Given the description of an element on the screen output the (x, y) to click on. 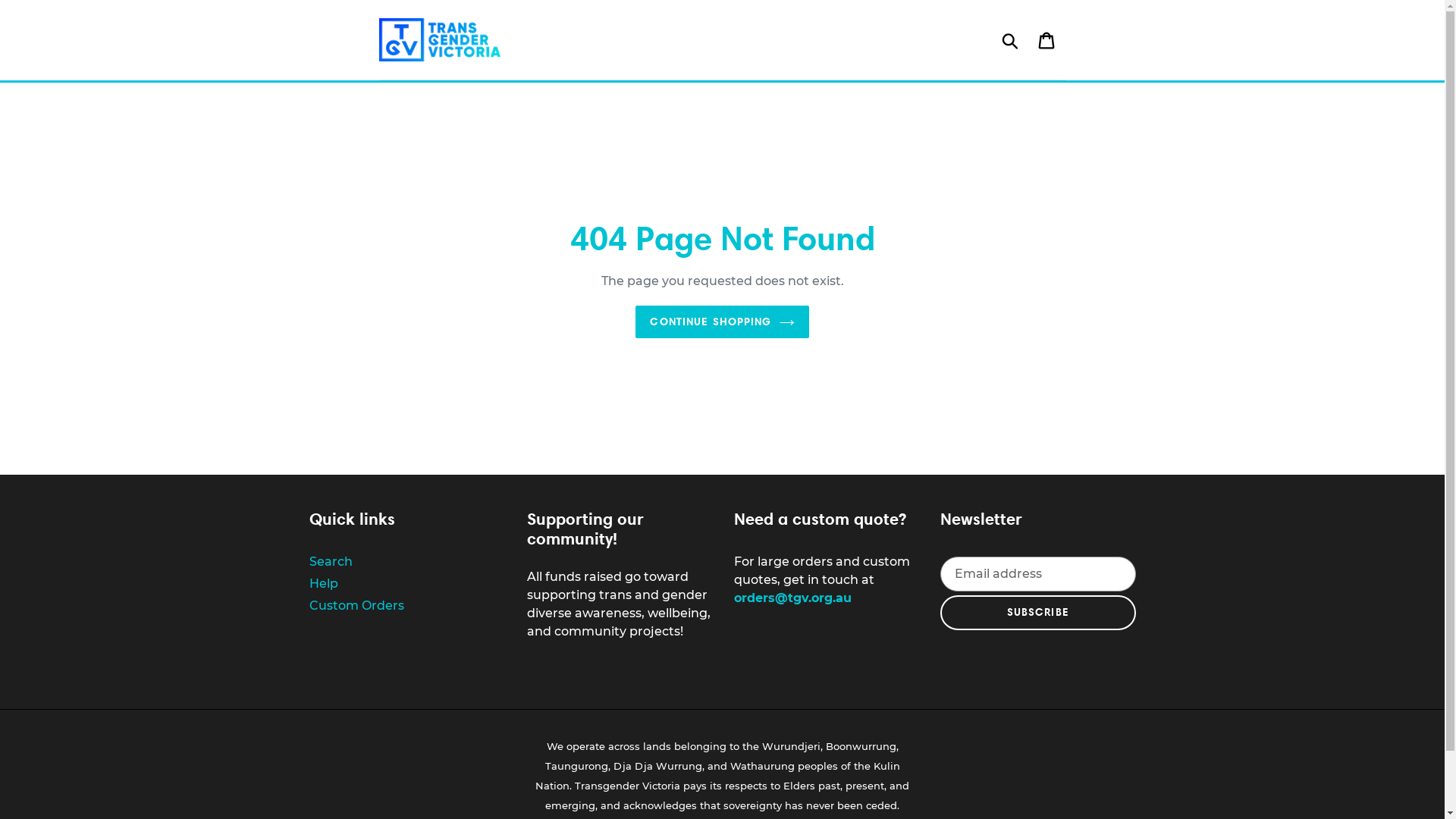
SUBSCRIBE Element type: text (1037, 612)
Cart Element type: text (1047, 39)
CONTINUE SHOPPING Element type: text (721, 321)
Custom Orders Element type: text (356, 605)
Search Element type: text (330, 561)
orders@tgv.org.au Element type: text (792, 597)
Help Element type: text (323, 583)
Submit Element type: text (1010, 39)
